Given the description of an element on the screen output the (x, y) to click on. 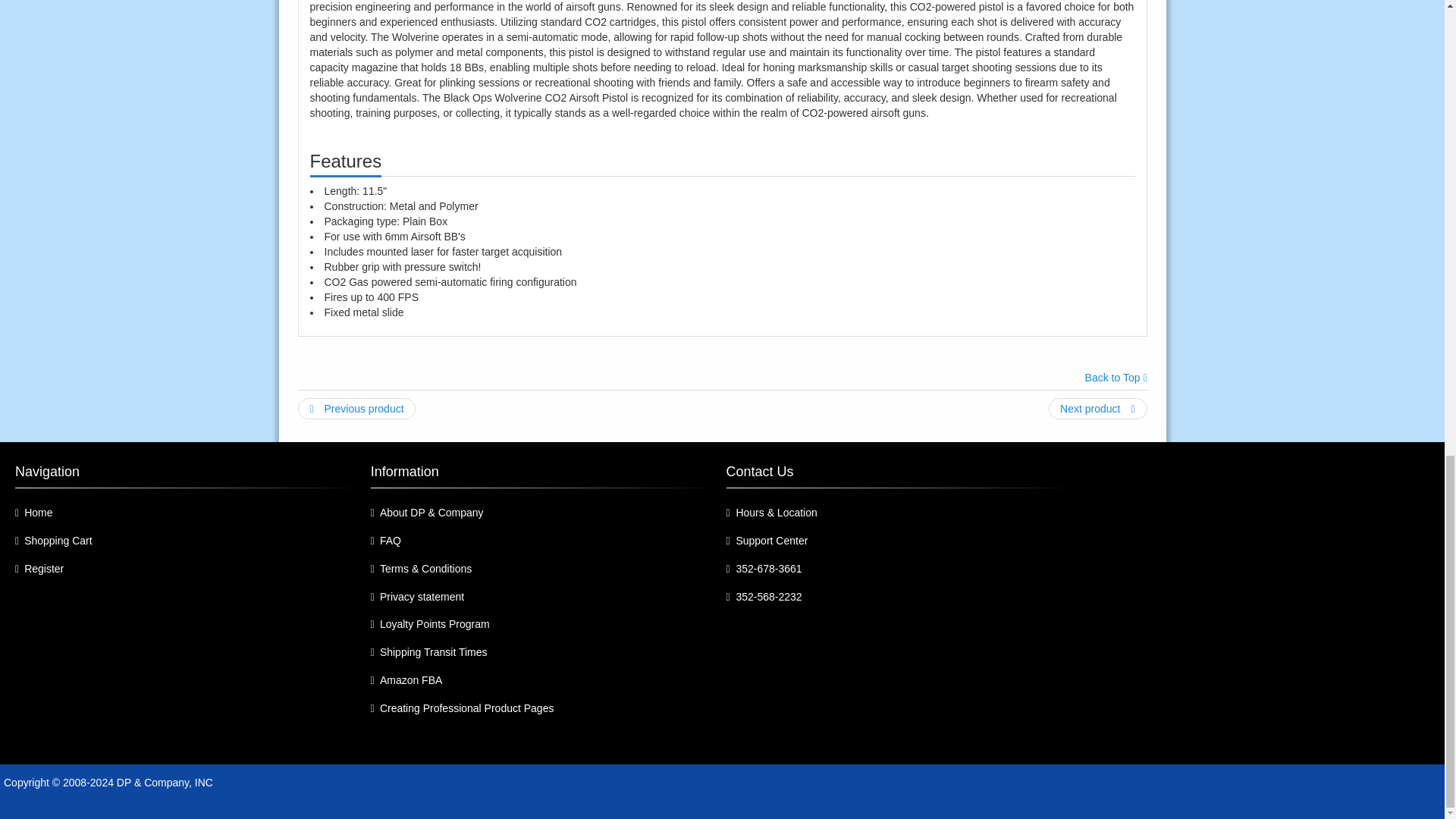
Back to Top (1115, 378)
